Given the description of an element on the screen output the (x, y) to click on. 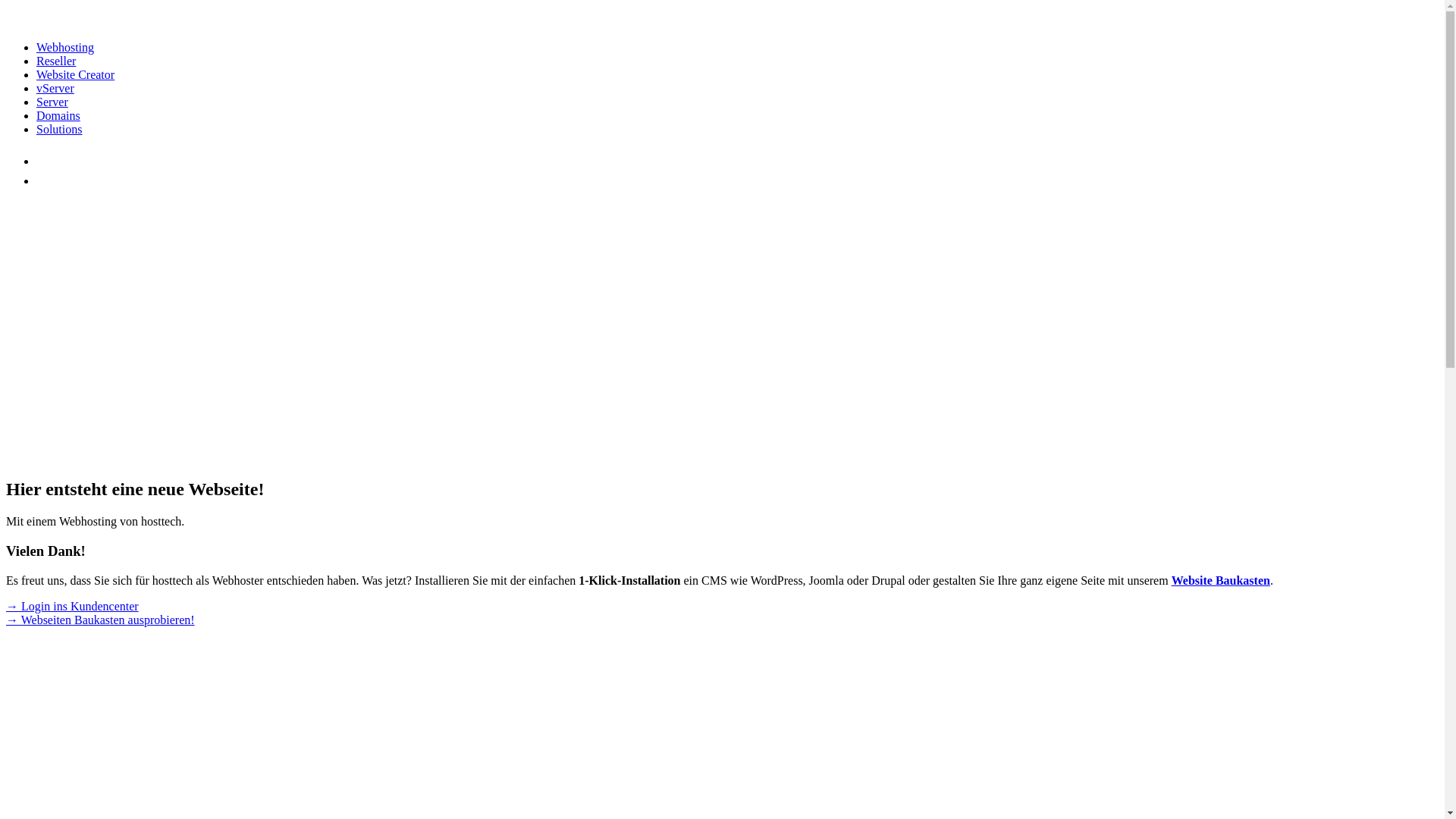
Website Baukasten Element type: text (1220, 580)
Server Element type: text (52, 101)
vServer Element type: text (55, 87)
Solutions Element type: text (58, 128)
Webhosting Element type: text (65, 46)
Domains Element type: text (58, 115)
Reseller Element type: text (55, 60)
Website Creator Element type: text (75, 74)
